Given the description of an element on the screen output the (x, y) to click on. 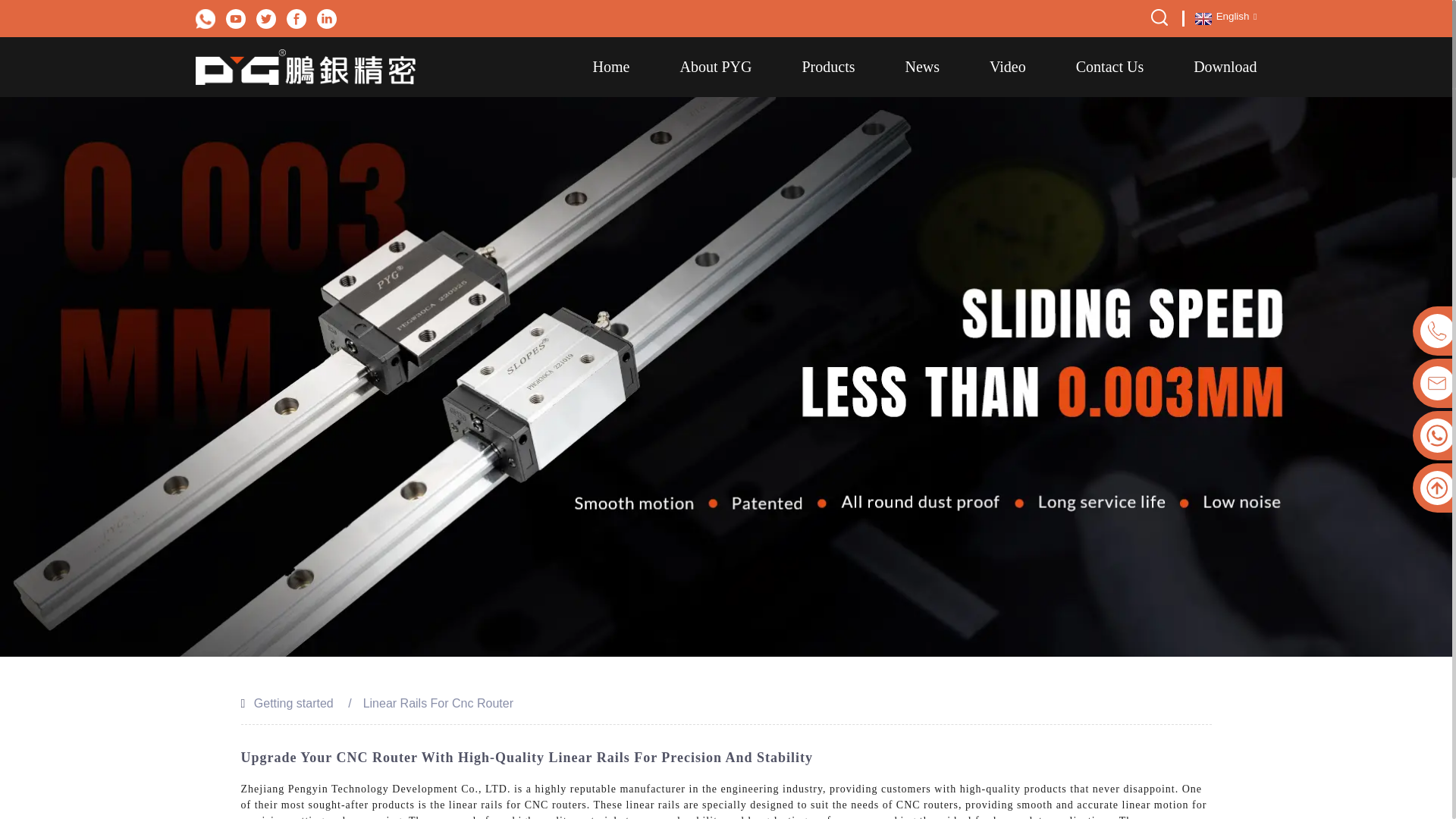
English (1224, 16)
Home (611, 66)
Products (829, 66)
About PYG (715, 66)
